Given the description of an element on the screen output the (x, y) to click on. 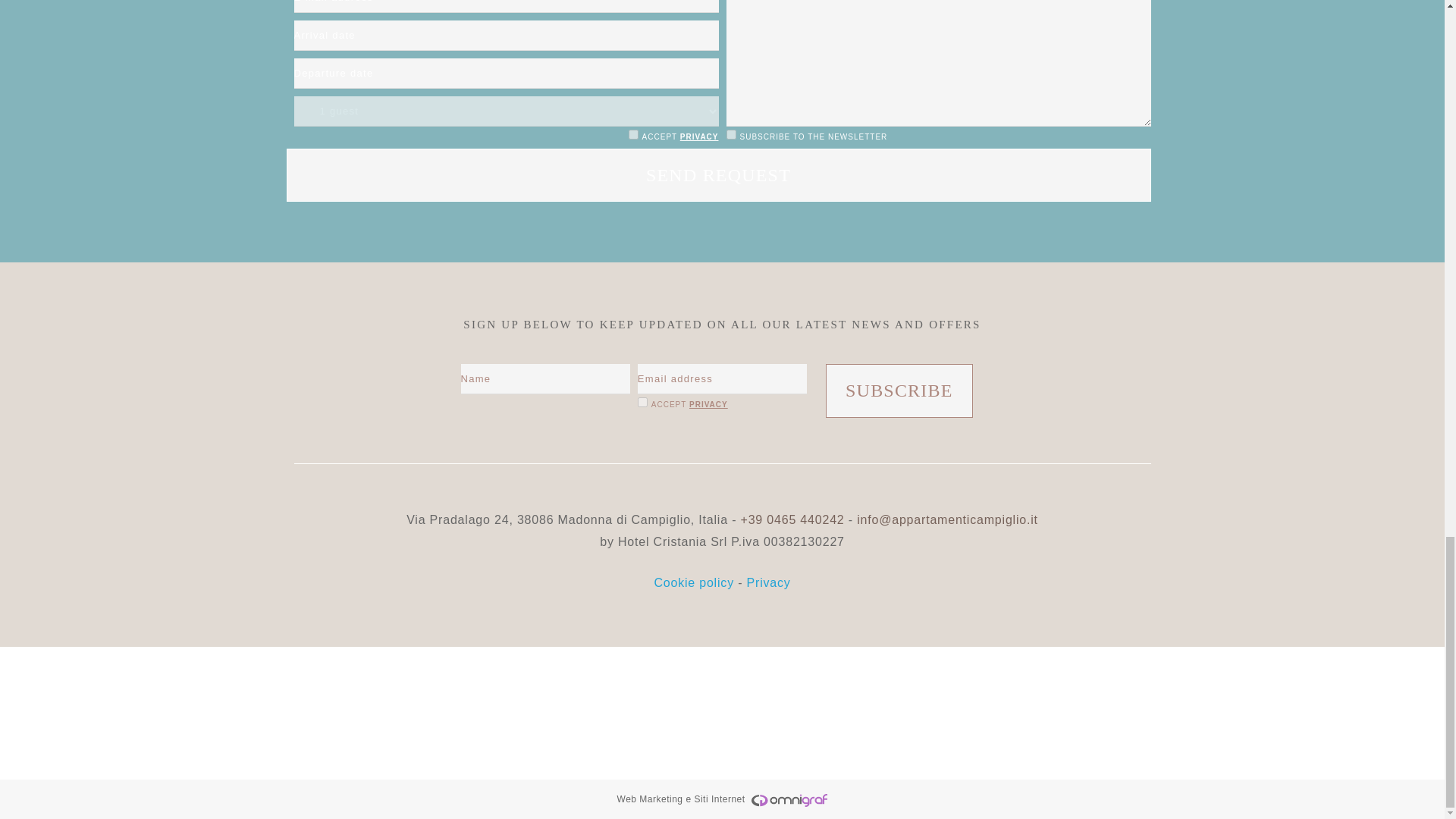
Subscribe to the newsletter (731, 134)
PRIVACY (708, 404)
Subscribe (898, 390)
Send request (718, 175)
PRIVACY (699, 136)
Send request (718, 175)
1 (642, 402)
1 (633, 134)
